Given the description of an element on the screen output the (x, y) to click on. 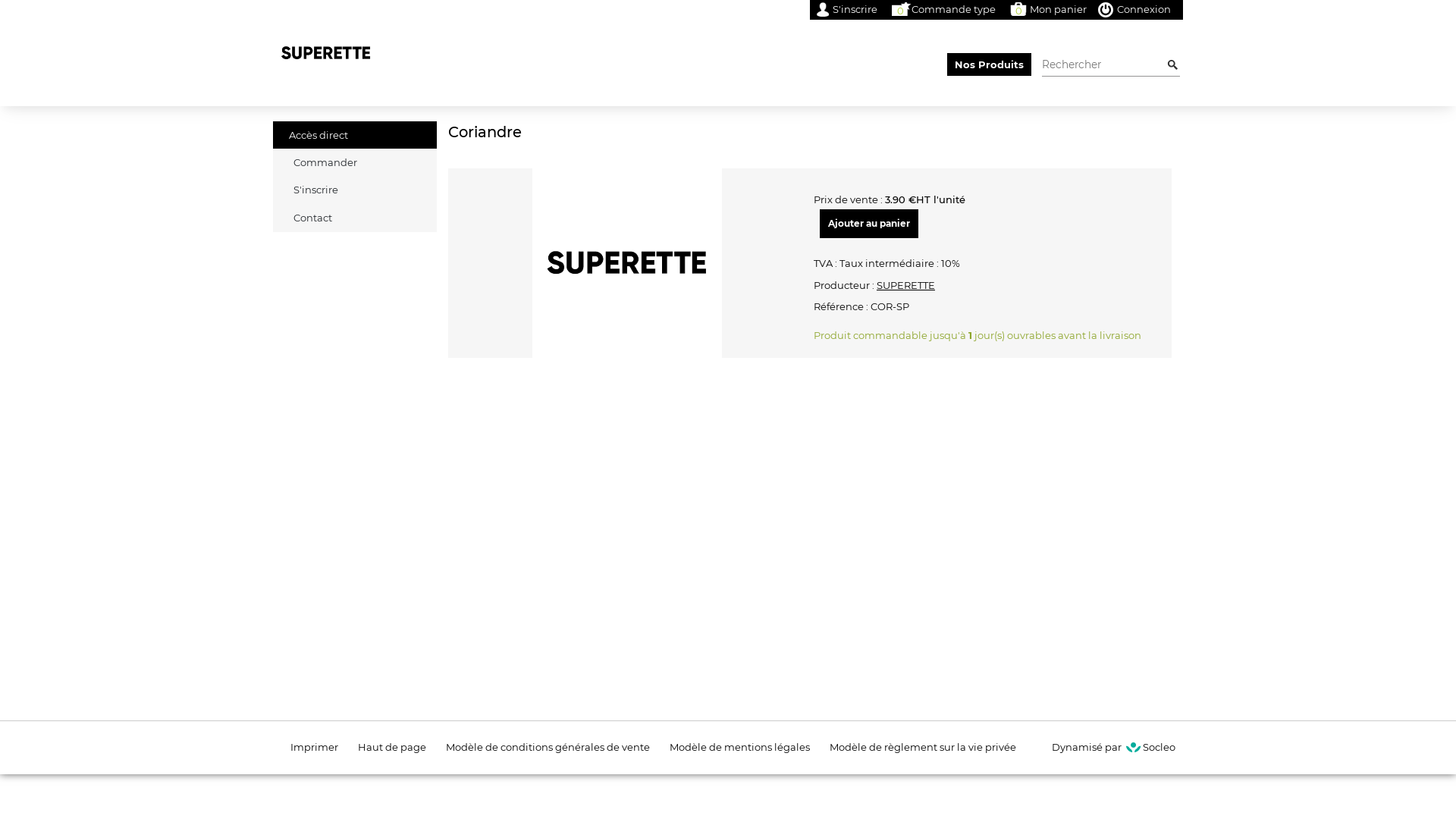
Ajouter au panier Element type: text (868, 223)
Nos Produits Element type: text (989, 64)
S'inscrire Element type: text (845, 9)
Contact Element type: text (354, 217)
Connexion Element type: text (1134, 9)
Commander Element type: text (354, 161)
Accueil Superette Sas Element type: hover (728, 53)
Imprimer Element type: text (314, 746)
S'inscrire Element type: text (354, 189)
Haut de page Element type: text (391, 746)
SUPERETTE Element type: text (905, 285)
0
Commande type Element type: text (941, 9)
0
Mon panier Element type: text (1046, 9)
Socleo Element type: text (1149, 746)
